Given the description of an element on the screen output the (x, y) to click on. 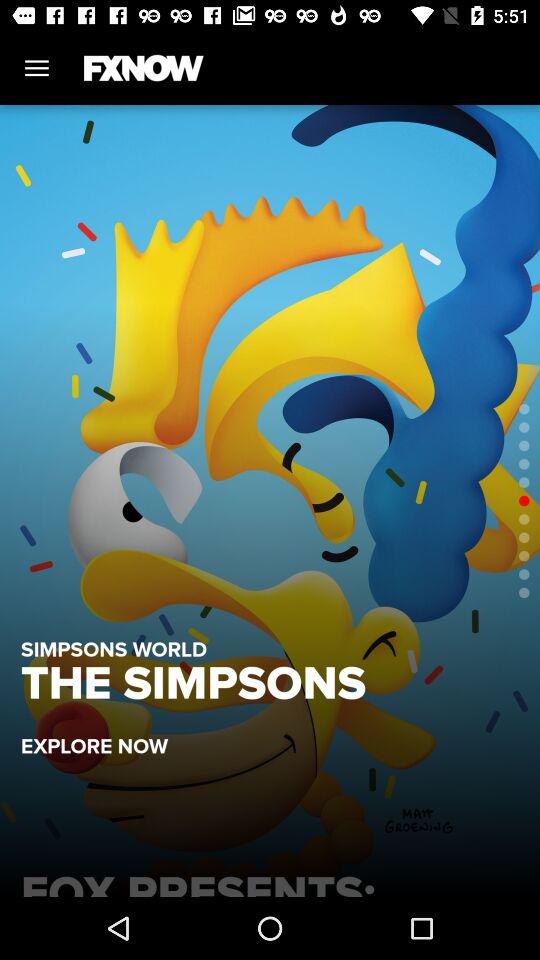
turn on explore now item (104, 735)
